Given the description of an element on the screen output the (x, y) to click on. 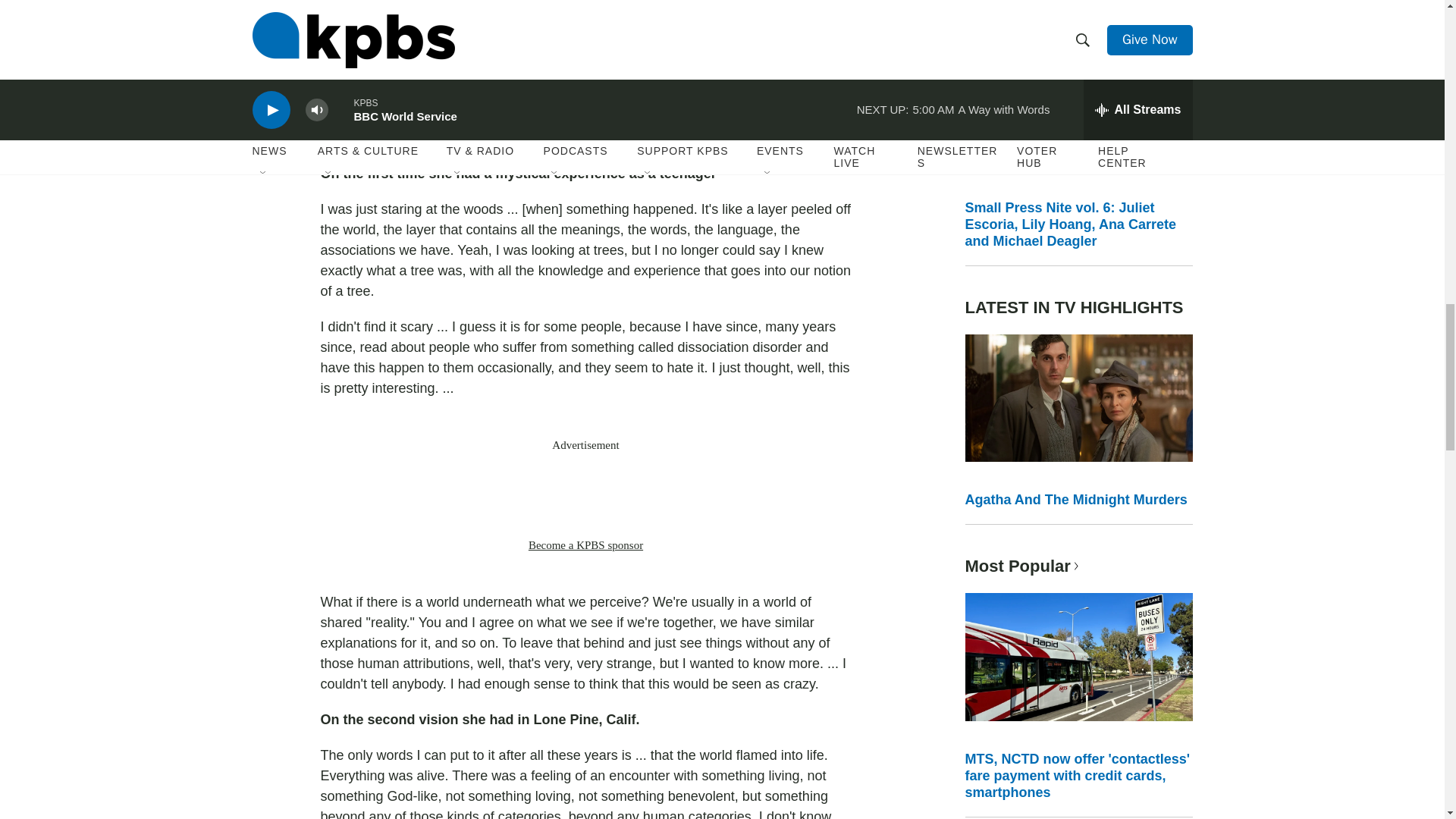
3rd party ad content (584, 15)
3rd party ad content (584, 495)
